Given the description of an element on the screen output the (x, y) to click on. 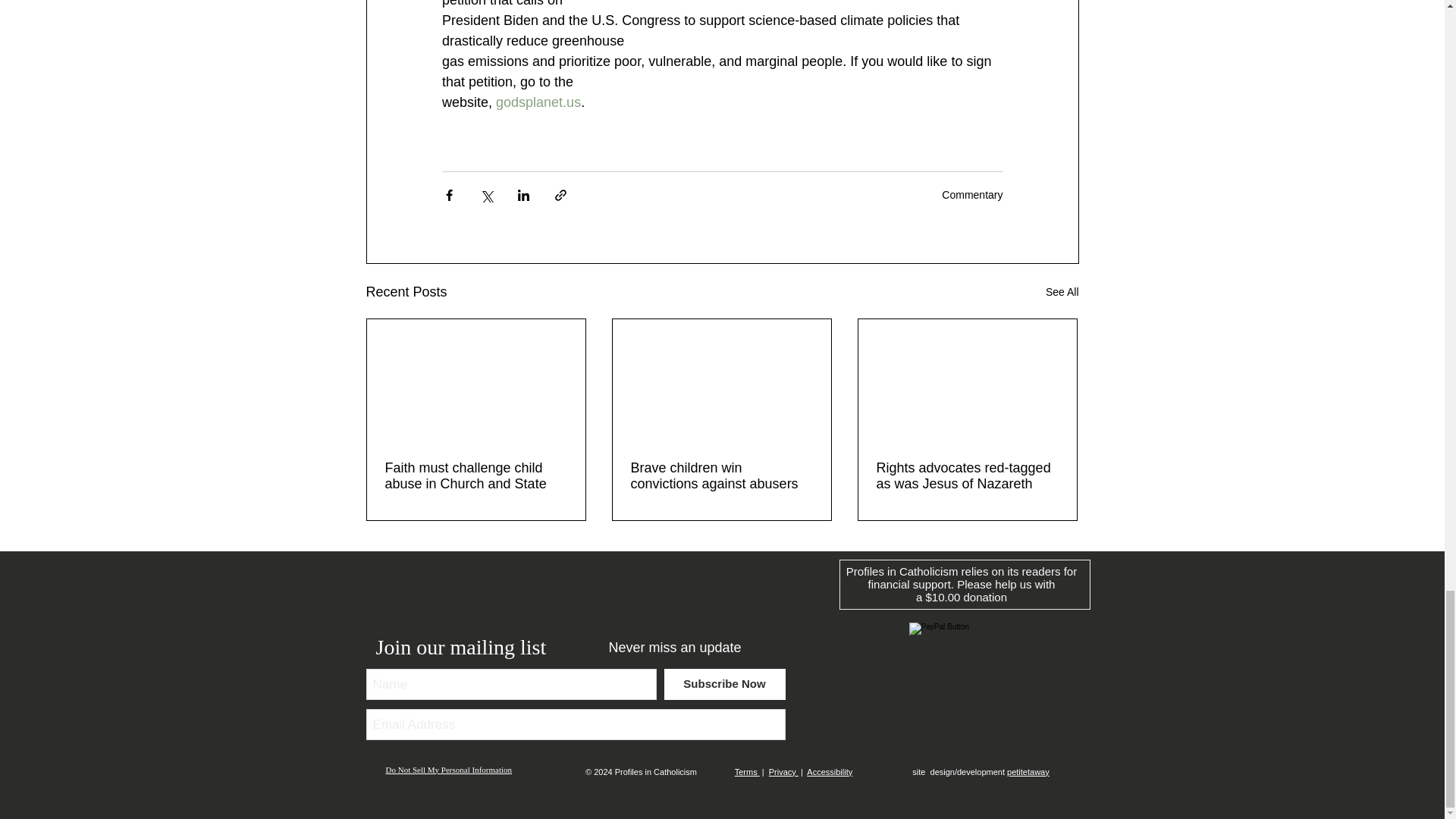
Faith must challenge child abuse in Church and State (476, 476)
See All (1061, 292)
Commentary (972, 194)
godsplanet.us (538, 102)
